Given the description of an element on the screen output the (x, y) to click on. 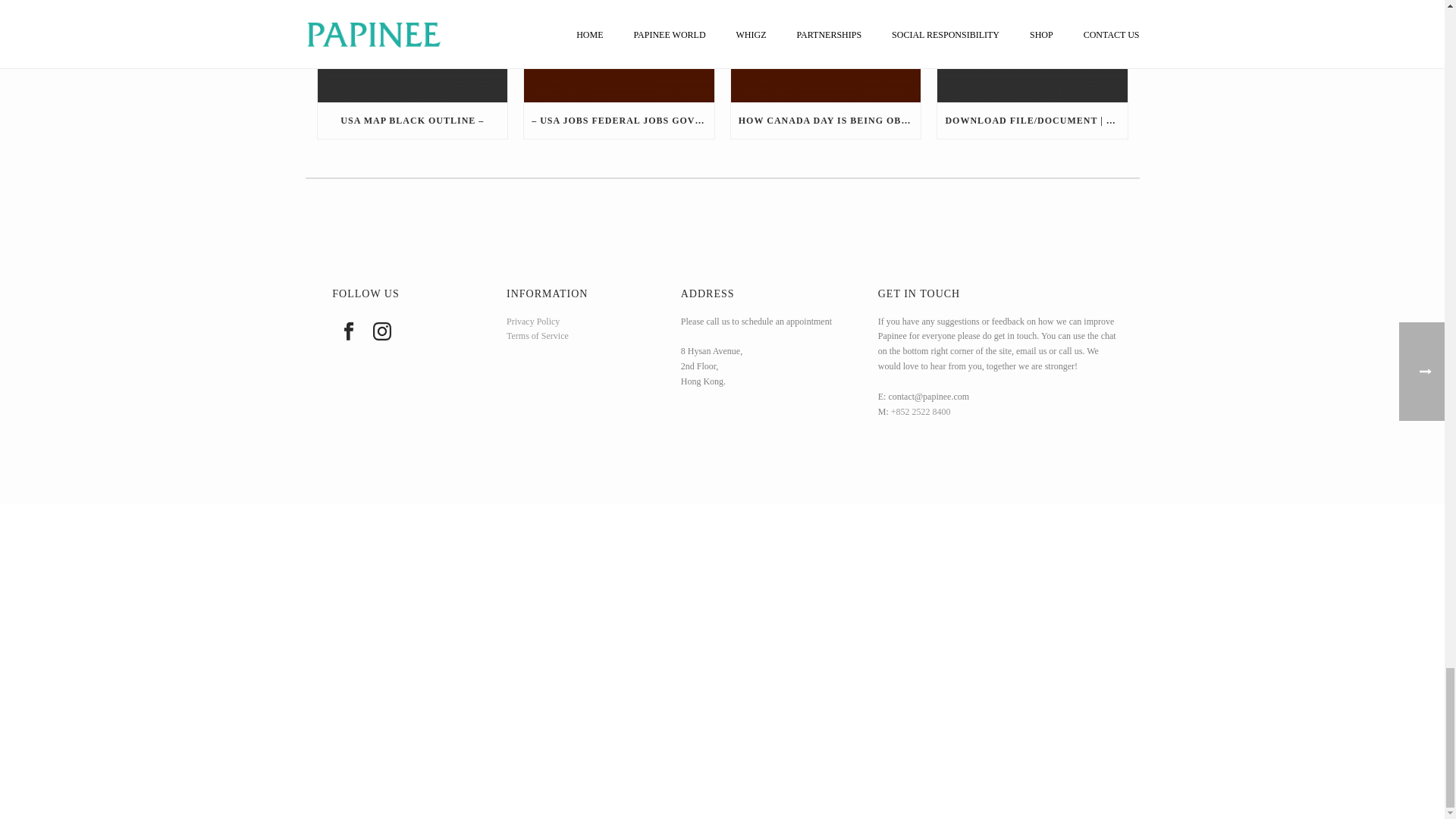
Follow Us on facebook (348, 331)
Follow Us on instagram (381, 331)
